Given the description of an element on the screen output the (x, y) to click on. 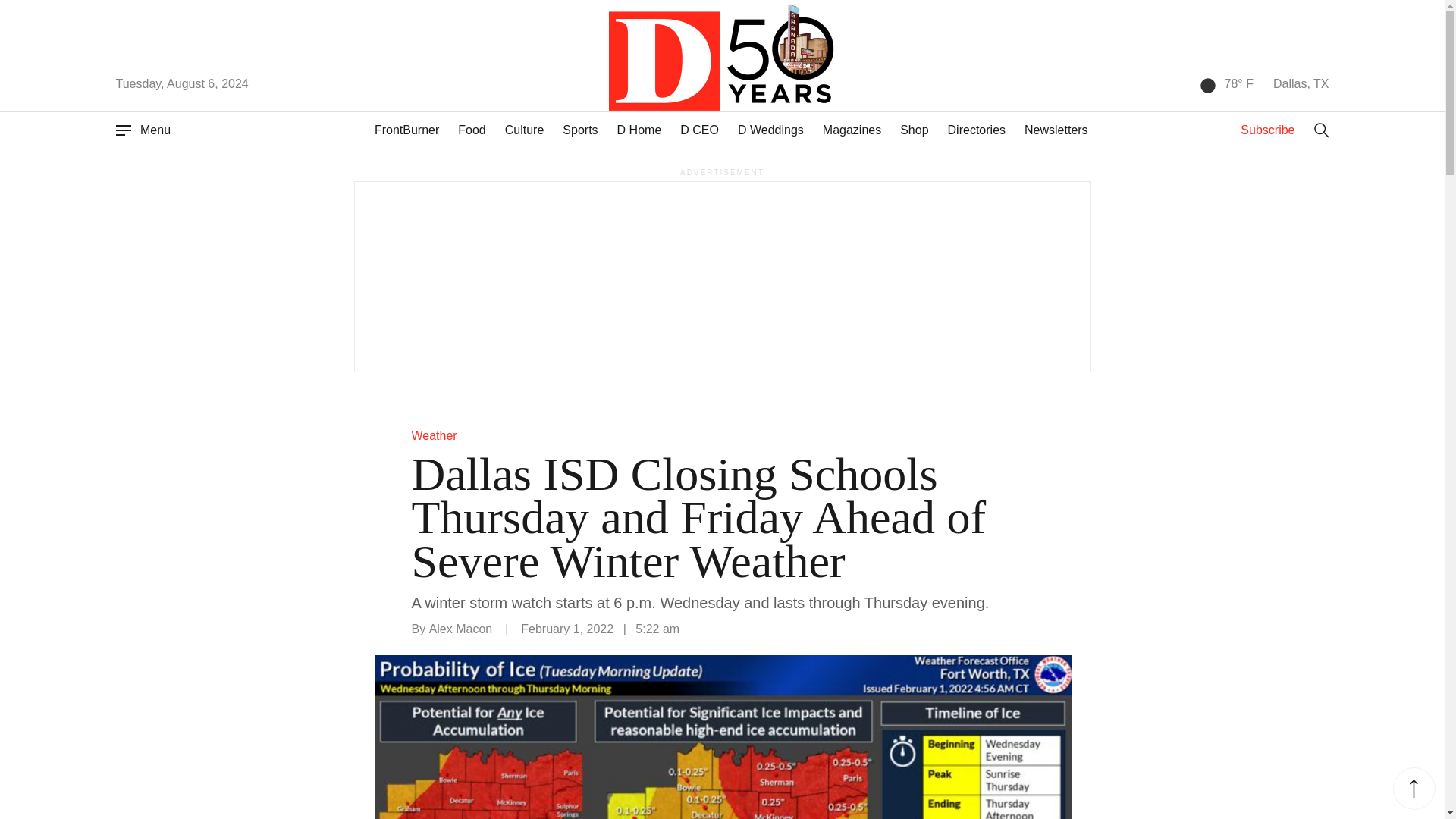
D Weddings (770, 130)
FrontBurner (406, 130)
Sports (579, 130)
Directories (976, 130)
Shop (913, 130)
D CEO (699, 130)
D Home (639, 130)
Newsletters (1056, 130)
Culture (524, 130)
